Given the description of an element on the screen output the (x, y) to click on. 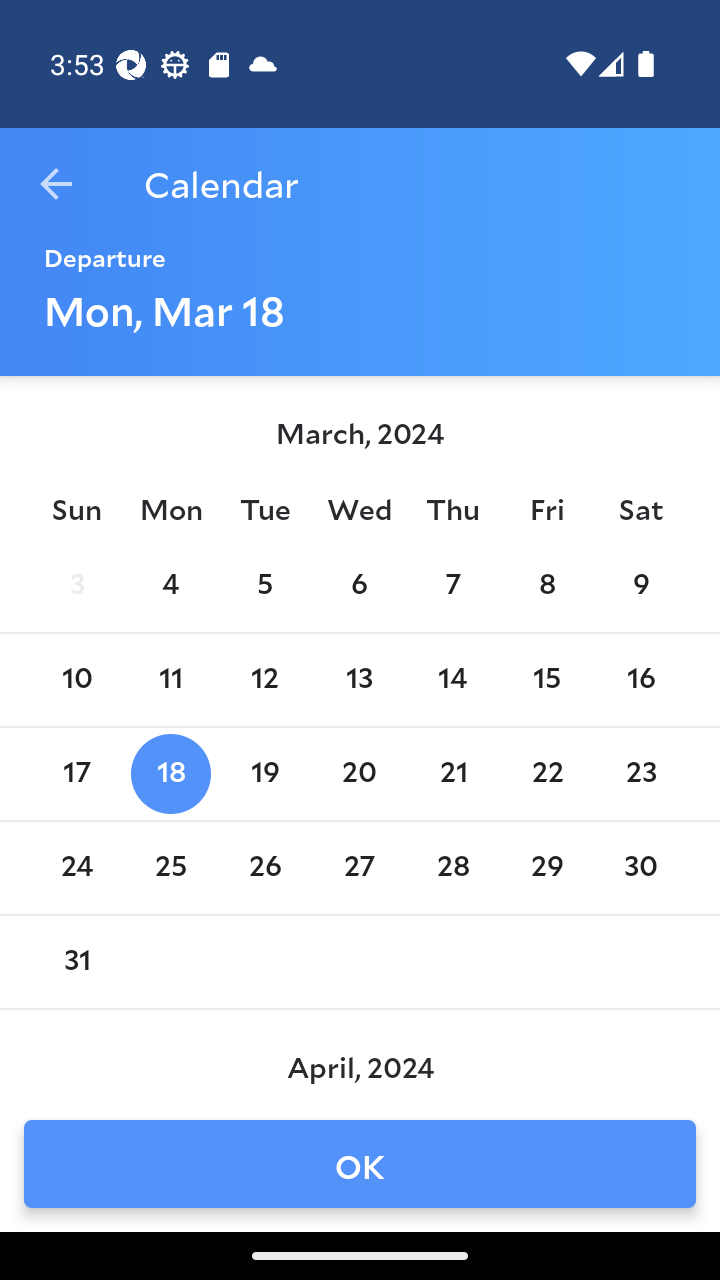
Navigate up (56, 184)
3 (76, 585)
4 (170, 585)
5 (264, 585)
6 (358, 585)
7 (453, 585)
8 (546, 585)
9 (641, 585)
10 (76, 679)
11 (170, 679)
12 (264, 679)
13 (358, 679)
14 (453, 679)
15 (546, 679)
16 (641, 679)
17 (76, 773)
18 (170, 773)
19 (264, 773)
20 (358, 773)
21 (453, 773)
22 (546, 773)
23 (641, 773)
24 (76, 867)
25 (170, 867)
26 (264, 867)
27 (358, 867)
28 (453, 867)
29 (546, 867)
30 (641, 867)
31 (76, 961)
OK (359, 1164)
